Given the description of an element on the screen output the (x, y) to click on. 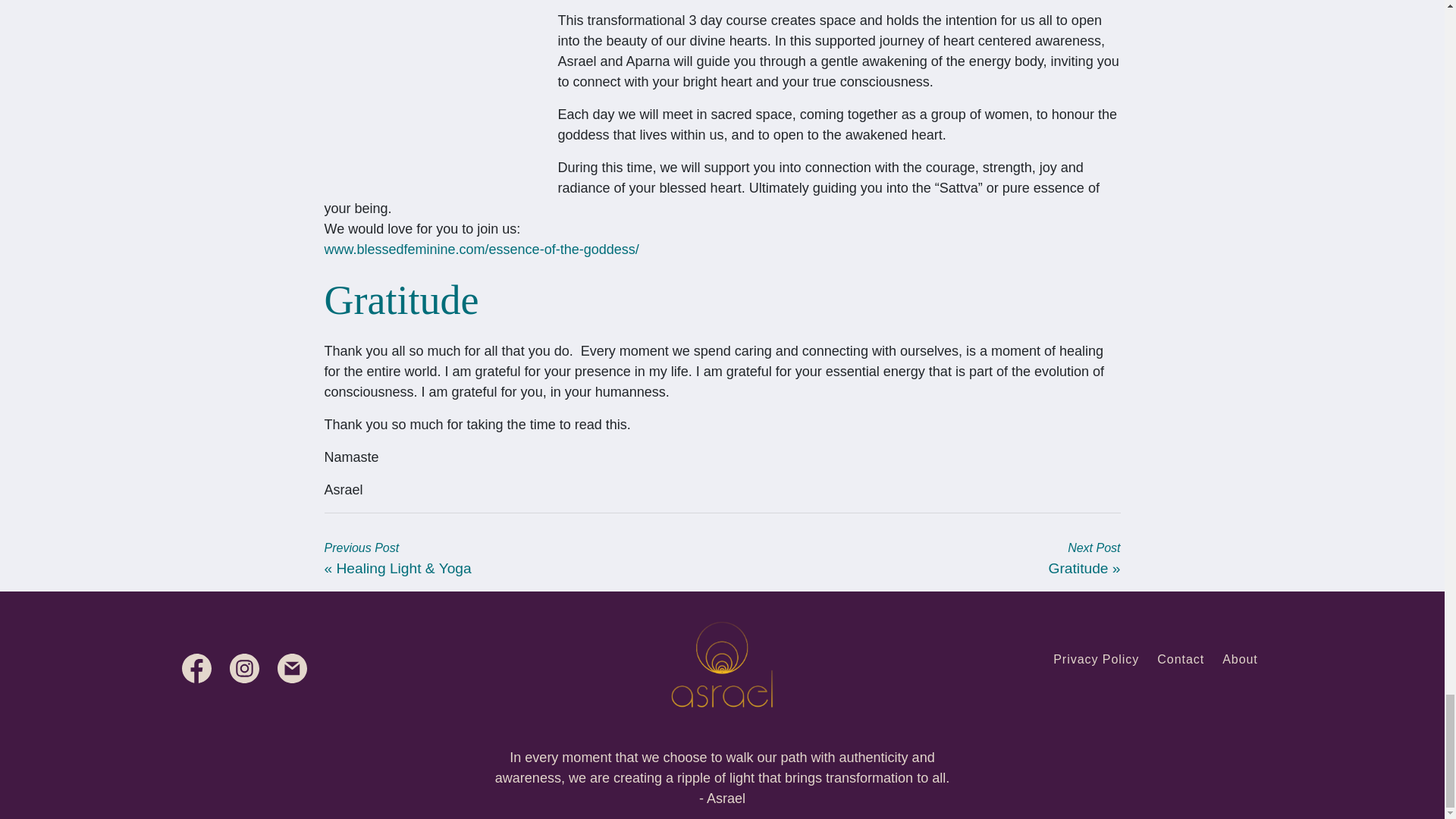
Gratitude (1078, 568)
About (1240, 658)
Contact (1180, 658)
Privacy Policy (1095, 658)
